Given the description of an element on the screen output the (x, y) to click on. 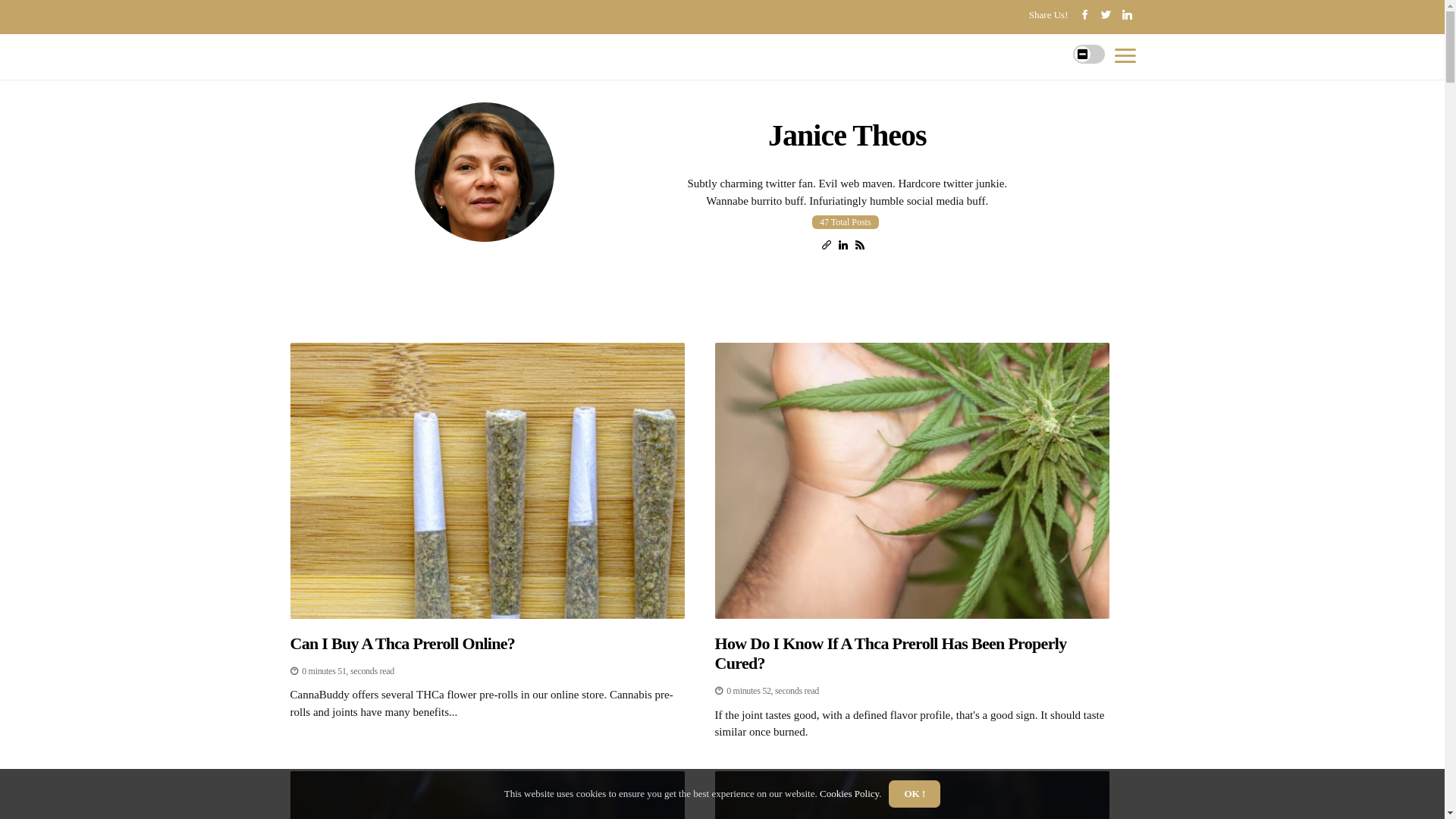
Cookies Policy Element type: text (848, 793)
Can I Buy A Thca Preroll Online? Element type: text (486, 643)
How Do I Know If A Thca Preroll Has Been Properly Cured? Element type: text (911, 653)
